Given the description of an element on the screen output the (x, y) to click on. 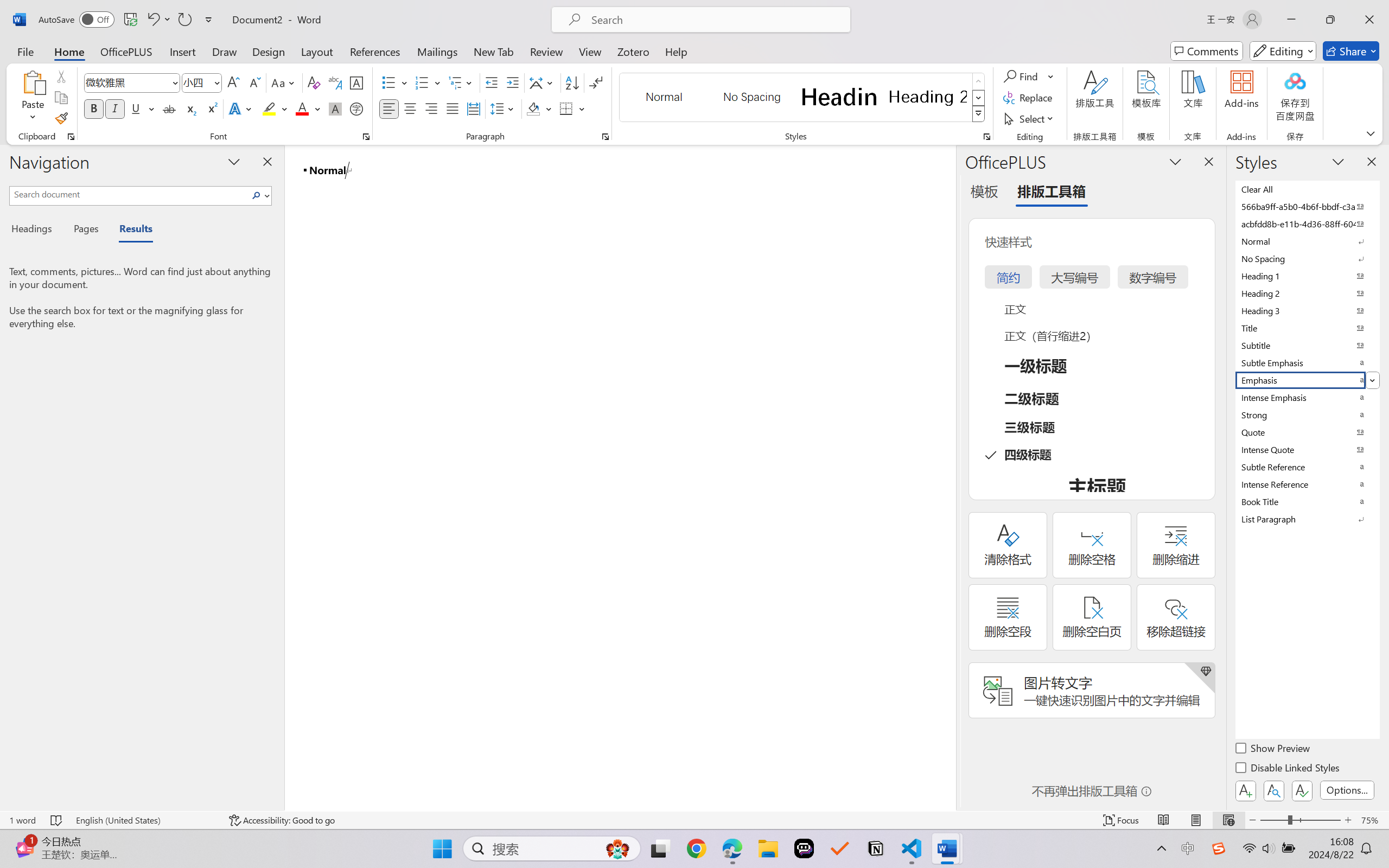
Share (1350, 51)
Asian Layout (542, 82)
OfficePLUS (126, 51)
Insert (182, 51)
Class: MsoCommandBar (694, 819)
Subtle Reference (1306, 466)
Heading 1 (839, 96)
Text Highlight Color (274, 108)
Paragraph... (605, 136)
Underline (142, 108)
